Given the description of an element on the screen output the (x, y) to click on. 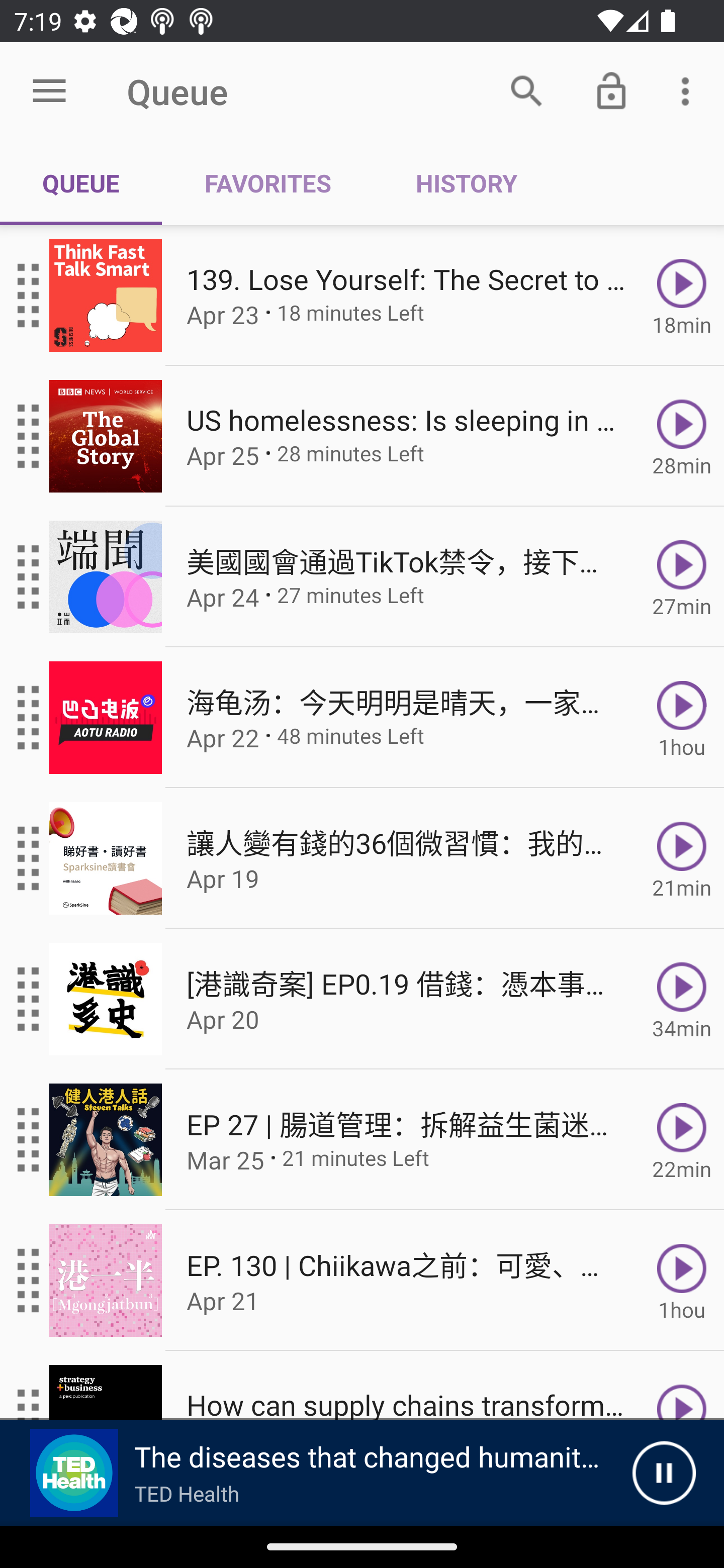
Open menu (49, 91)
Search (526, 90)
Lock Queue (611, 90)
More options (688, 90)
QUEUE (81, 183)
FAVORITES (267, 183)
HISTORY (465, 183)
Play 18min (681, 295)
Play 28min (681, 435)
Play 27min (681, 576)
Play 1hou (681, 717)
Play 21min (681, 858)
Play 34min (681, 998)
Play 22min (681, 1139)
Play 1hou (681, 1280)
Play (681, 1385)
Pause (663, 1472)
